Given the description of an element on the screen output the (x, y) to click on. 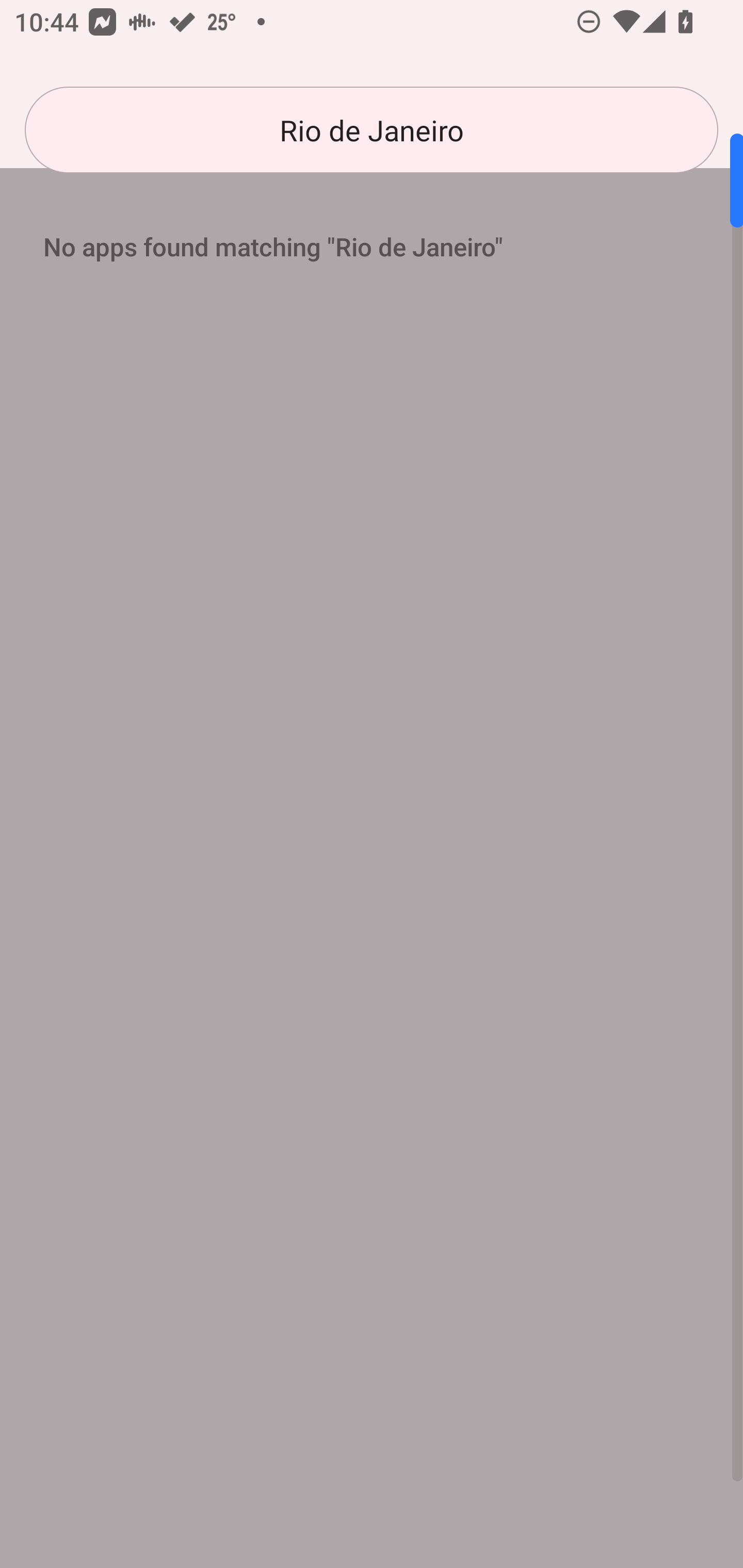
Rio de Janeiro (371, 130)
